Given the description of an element on the screen output the (x, y) to click on. 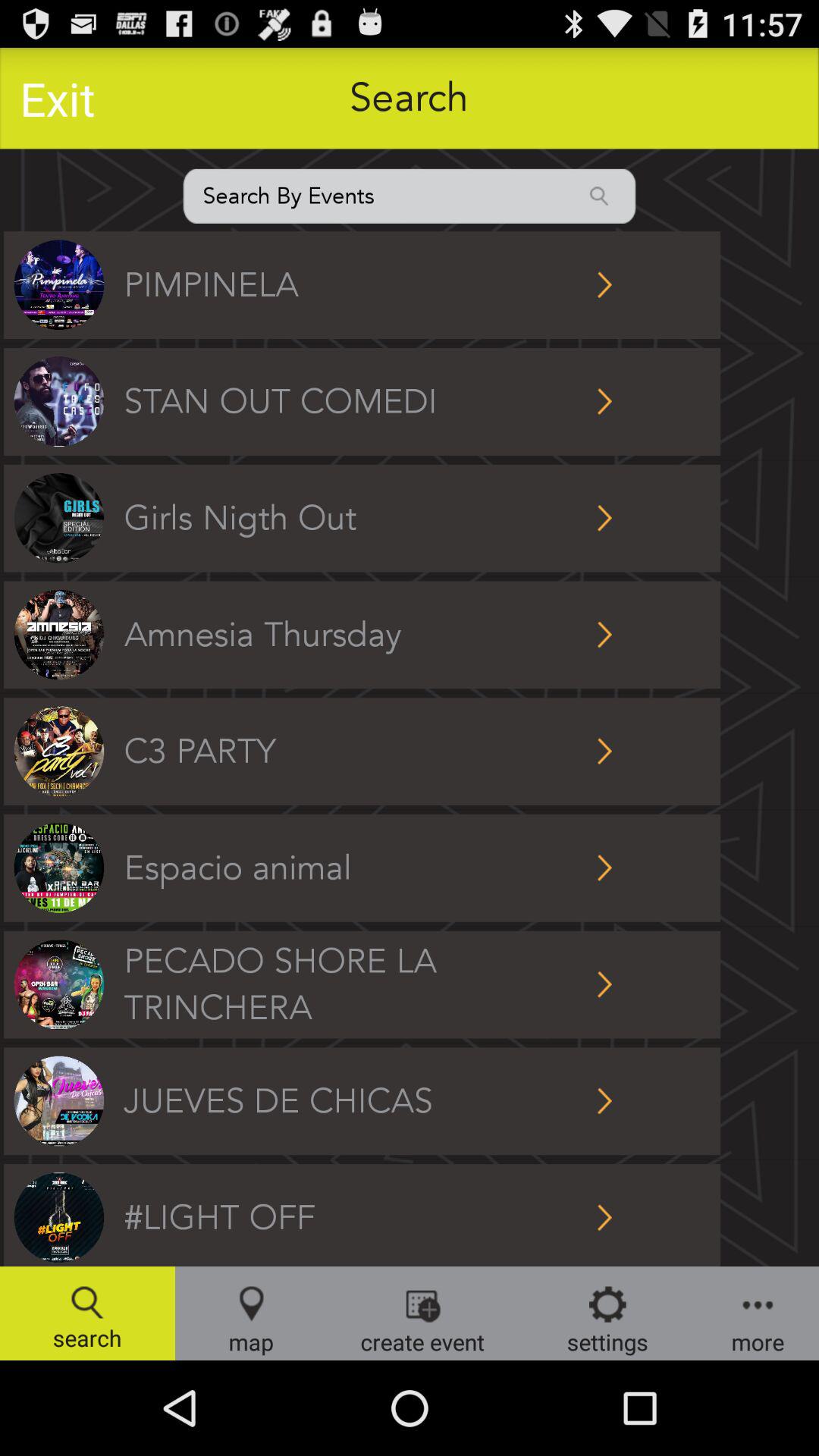
search upcoming events (409, 195)
